Given the description of an element on the screen output the (x, y) to click on. 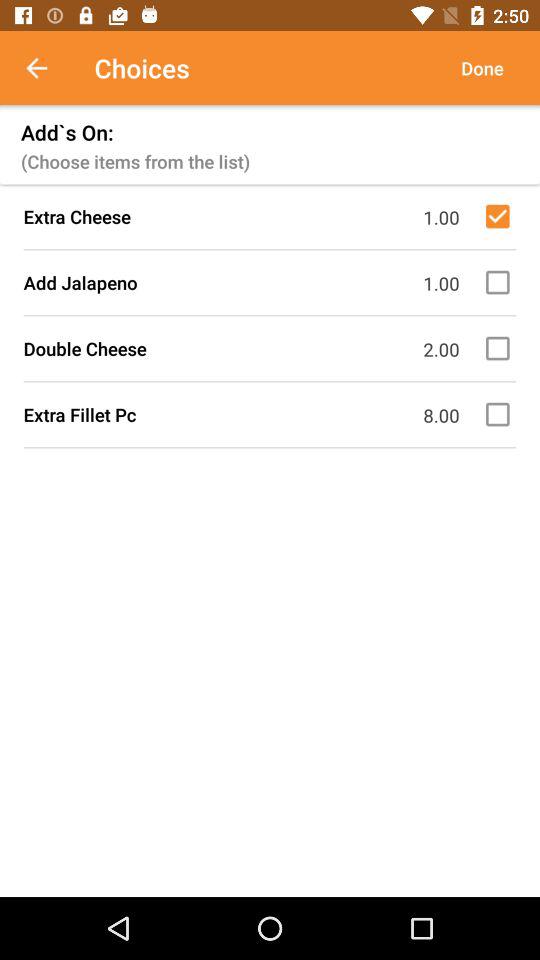
select double cheese (501, 348)
